Given the description of an element on the screen output the (x, y) to click on. 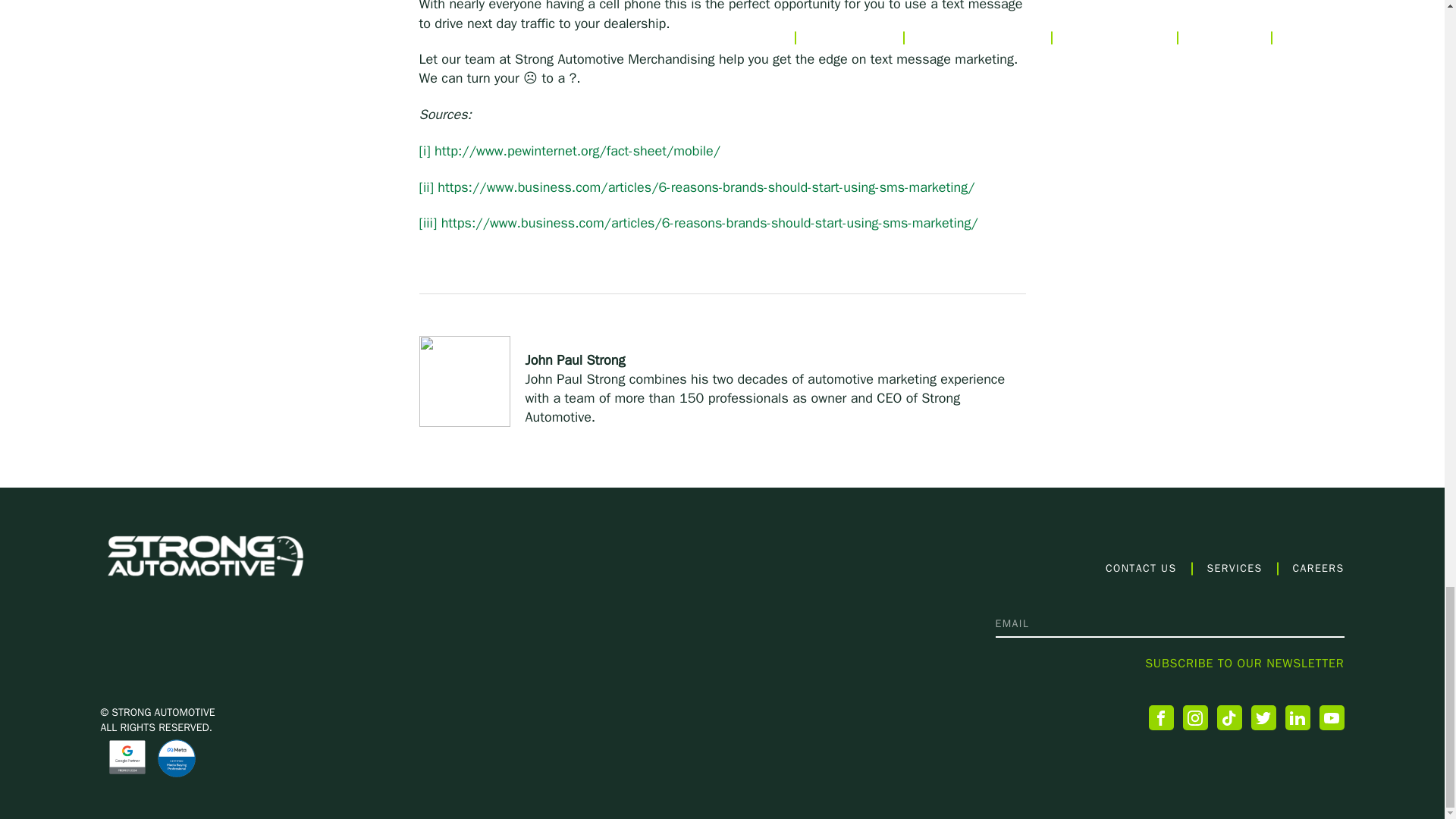
LinkedIn (1296, 717)
TikTok (1228, 717)
Strong Automotive (204, 555)
Facebook (1160, 717)
Instagram (1195, 717)
Youtube (1331, 717)
Google Premier Partner (126, 757)
Meta Partner (176, 758)
Twitter (1263, 717)
